Given the description of an element on the screen output the (x, y) to click on. 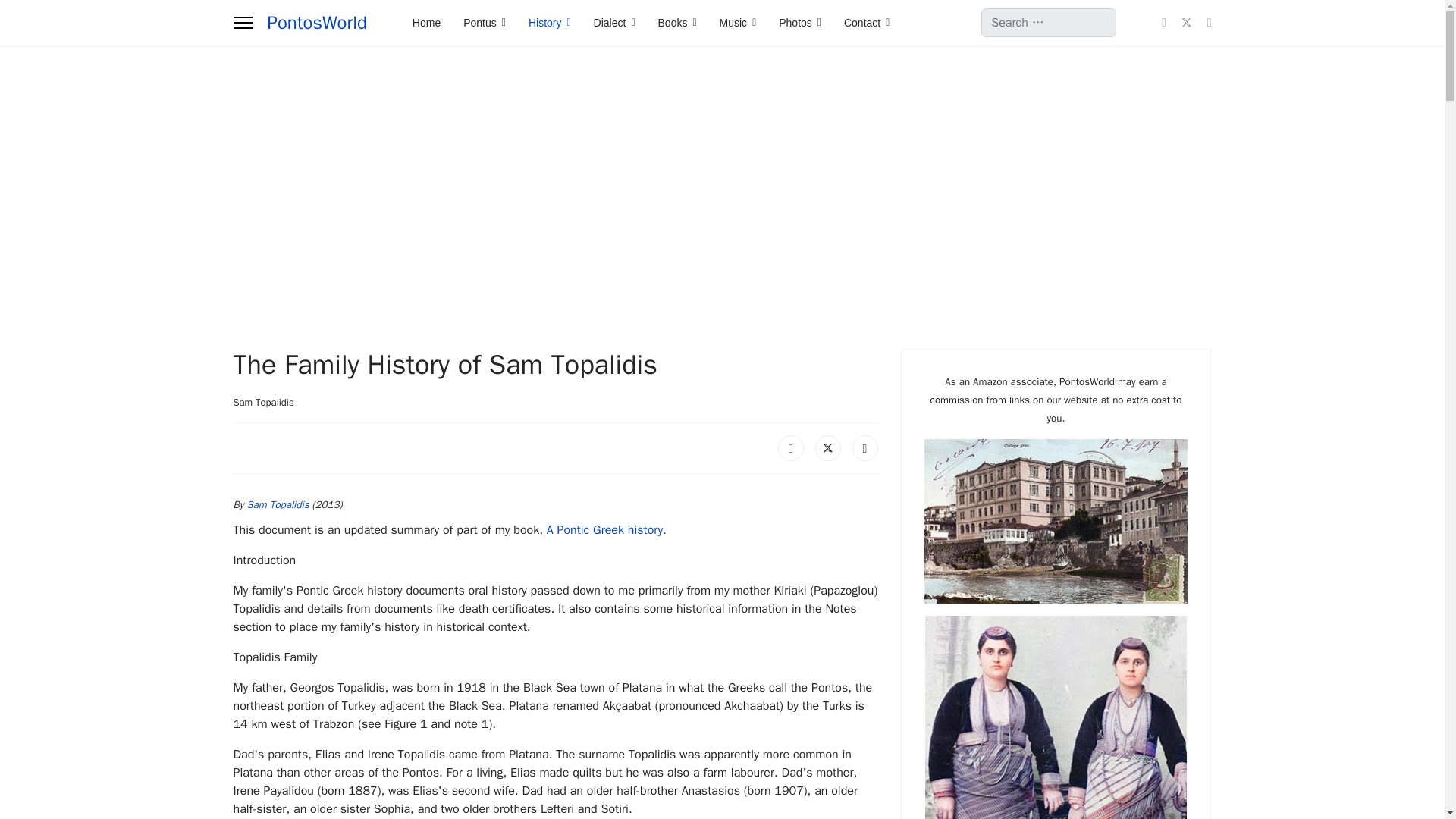
History (549, 22)
Dialect (614, 22)
Books (676, 22)
LinkedIn (864, 447)
Pontus (483, 22)
Category: Sam Topalidis (263, 402)
PontosWorld (316, 22)
Facebook (790, 447)
Home (426, 22)
